Given the description of an element on the screen output the (x, y) to click on. 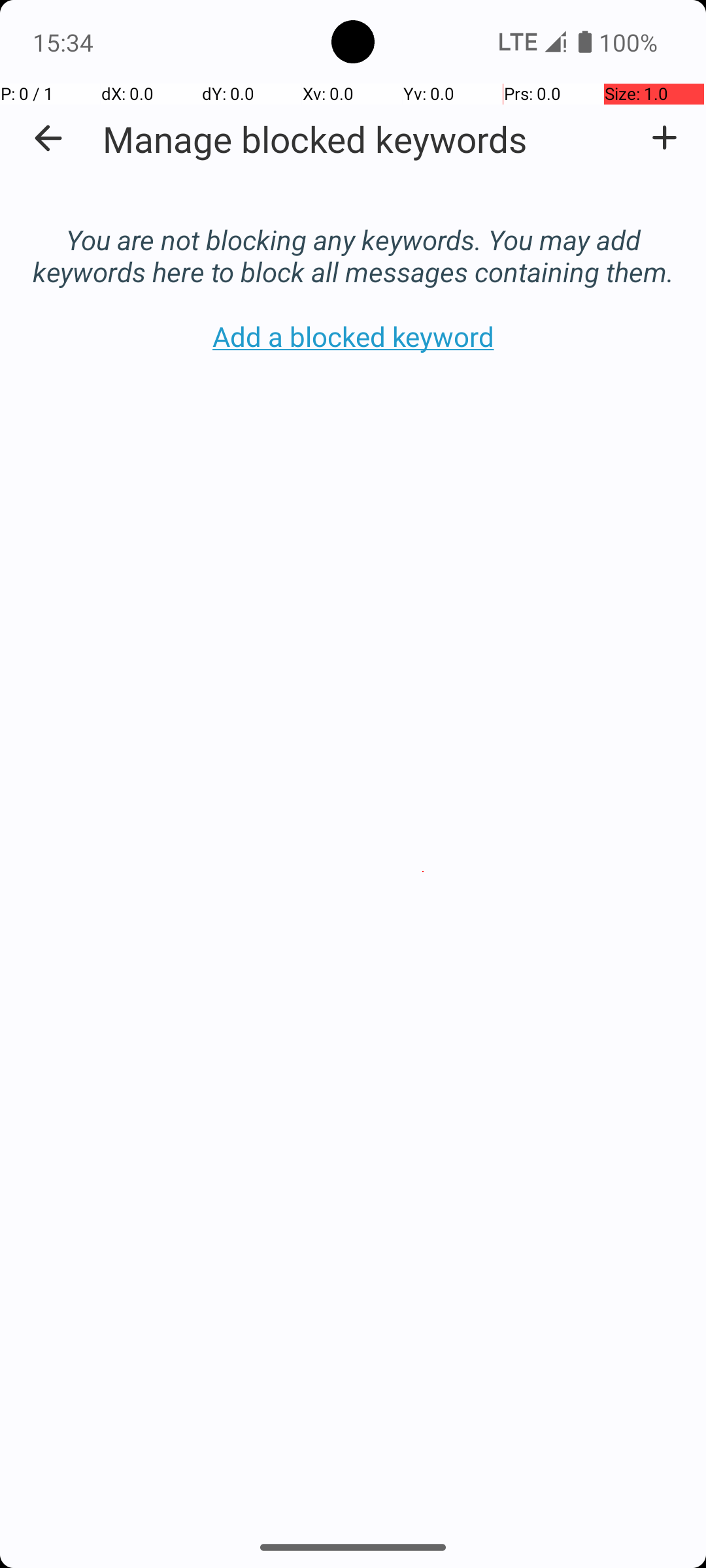
Add a blocked keyword Element type: android.widget.Button (664, 137)
You are not blocking any keywords. You may add keywords here to block all messages containing them. Element type: android.widget.TextView (353, 241)
